Given the description of an element on the screen output the (x, y) to click on. 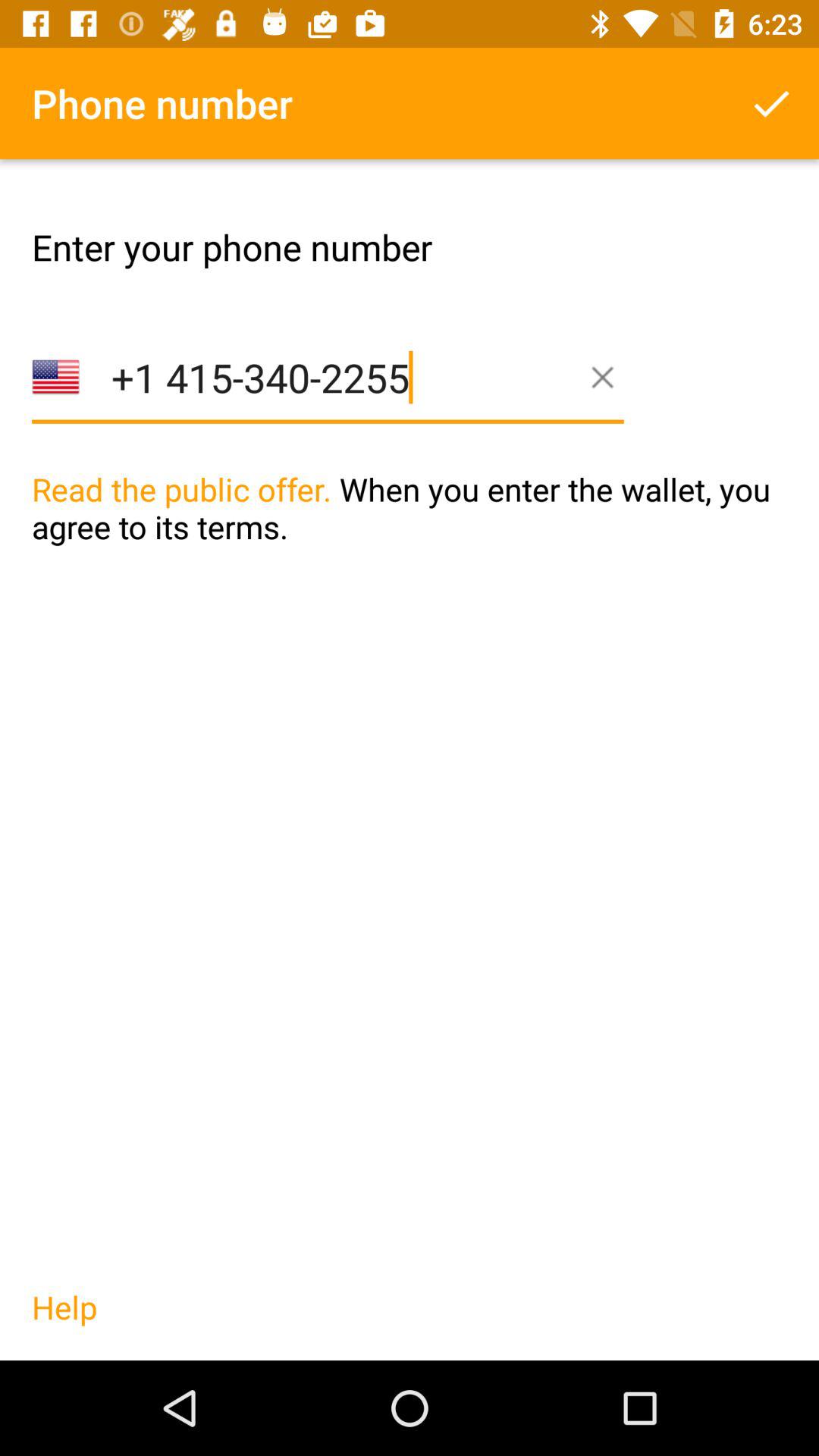
scroll to read the public (409, 539)
